Given the description of an element on the screen output the (x, y) to click on. 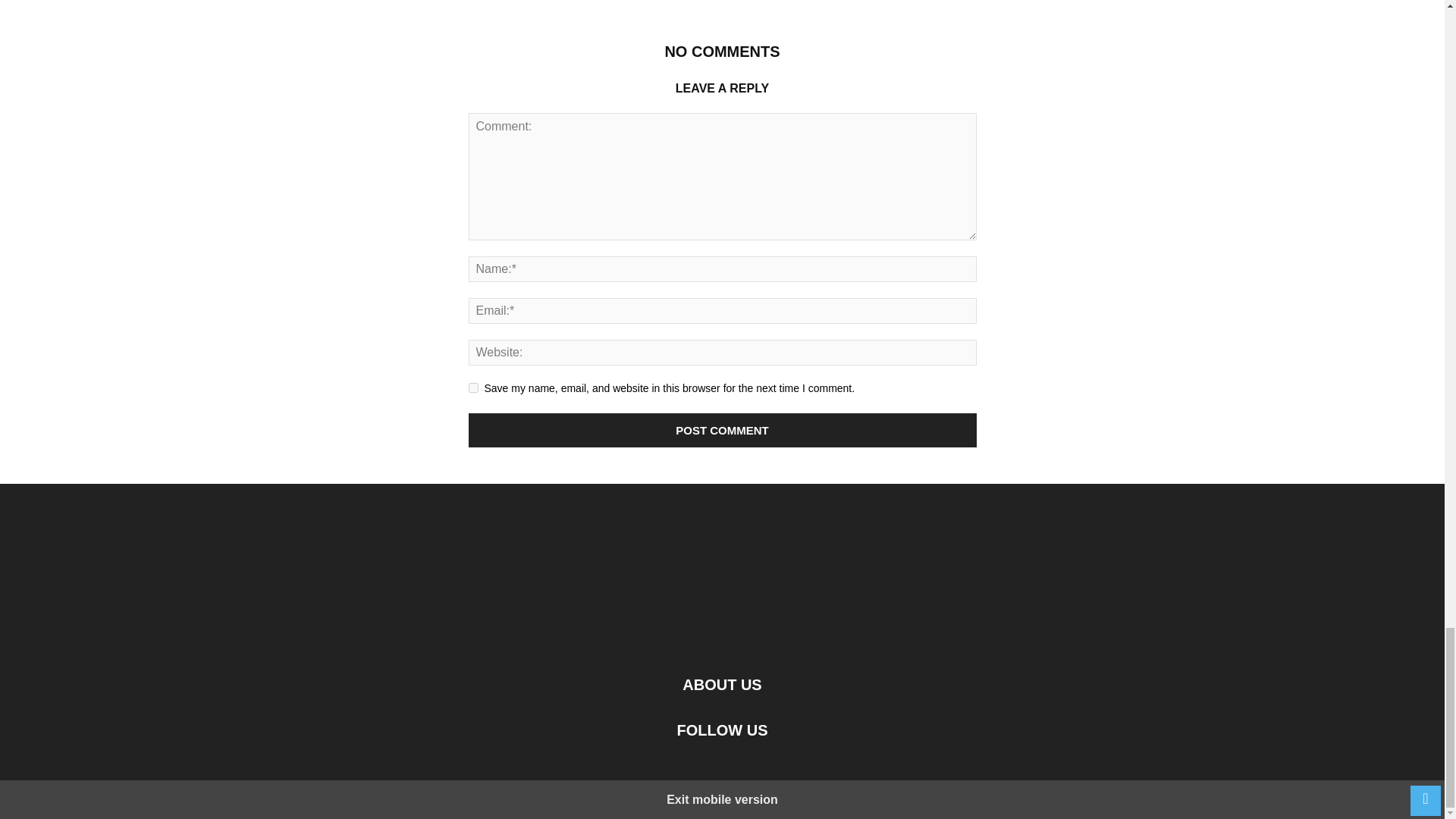
Post Comment (722, 430)
Post Comment (722, 430)
yes (473, 388)
